Given the description of an element on the screen output the (x, y) to click on. 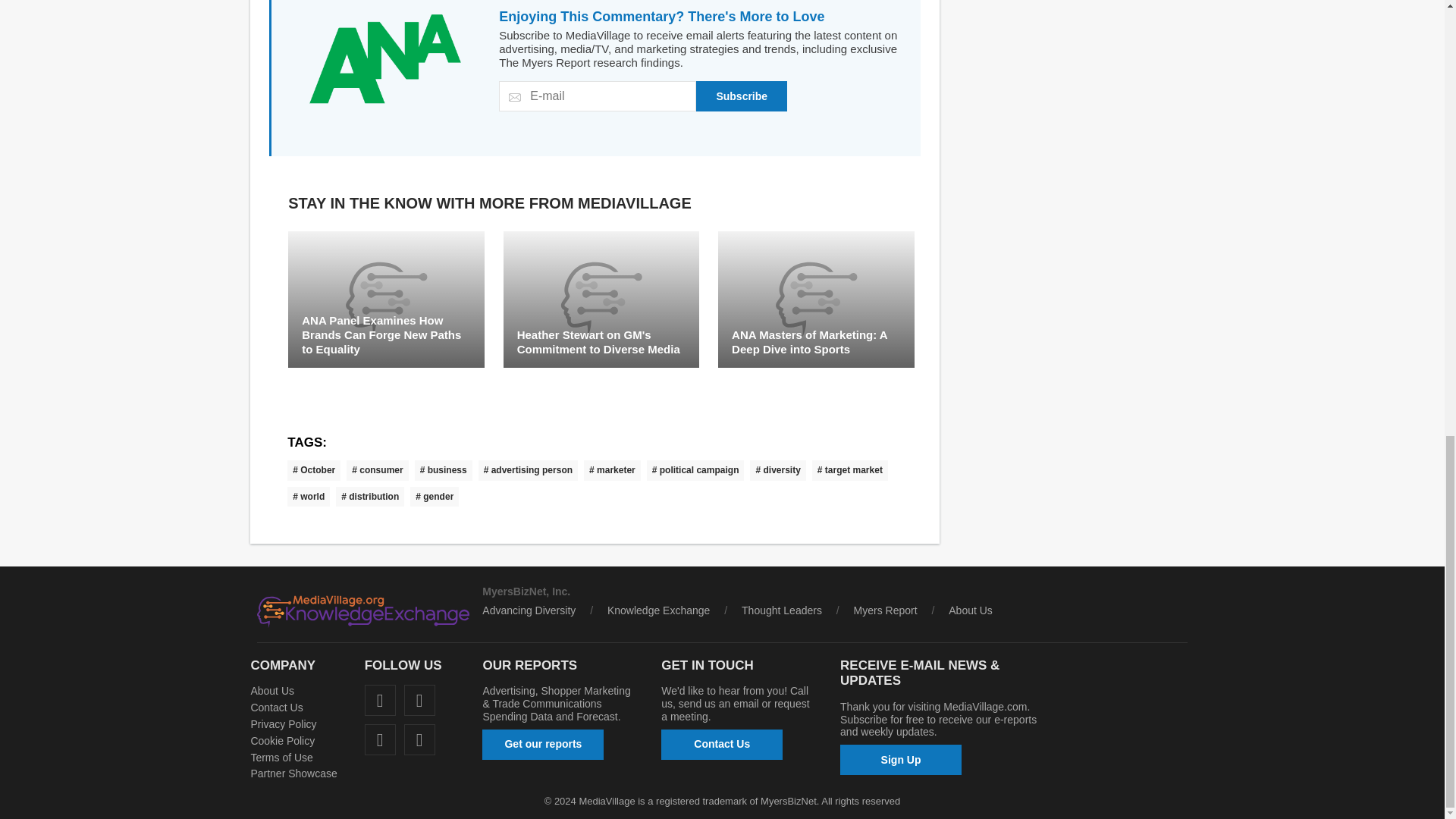
Rss (419, 739)
Follow us on Instagram (380, 739)
Follow us on Facebook (380, 699)
Follow us on LinkedIn (419, 699)
